Given the description of an element on the screen output the (x, y) to click on. 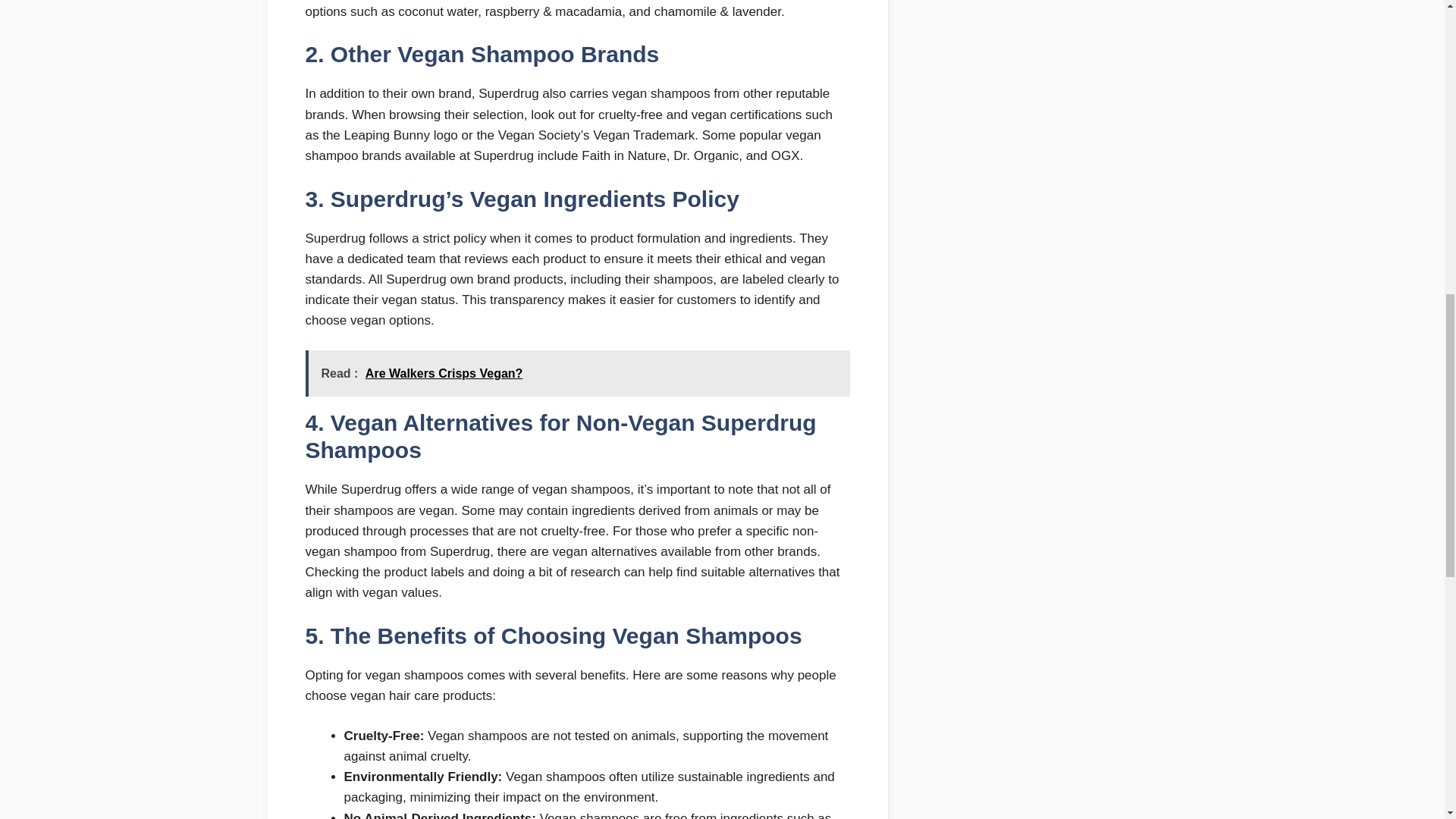
Read :  Are Walkers Crisps Vegan? (576, 373)
